Given the description of an element on the screen output the (x, y) to click on. 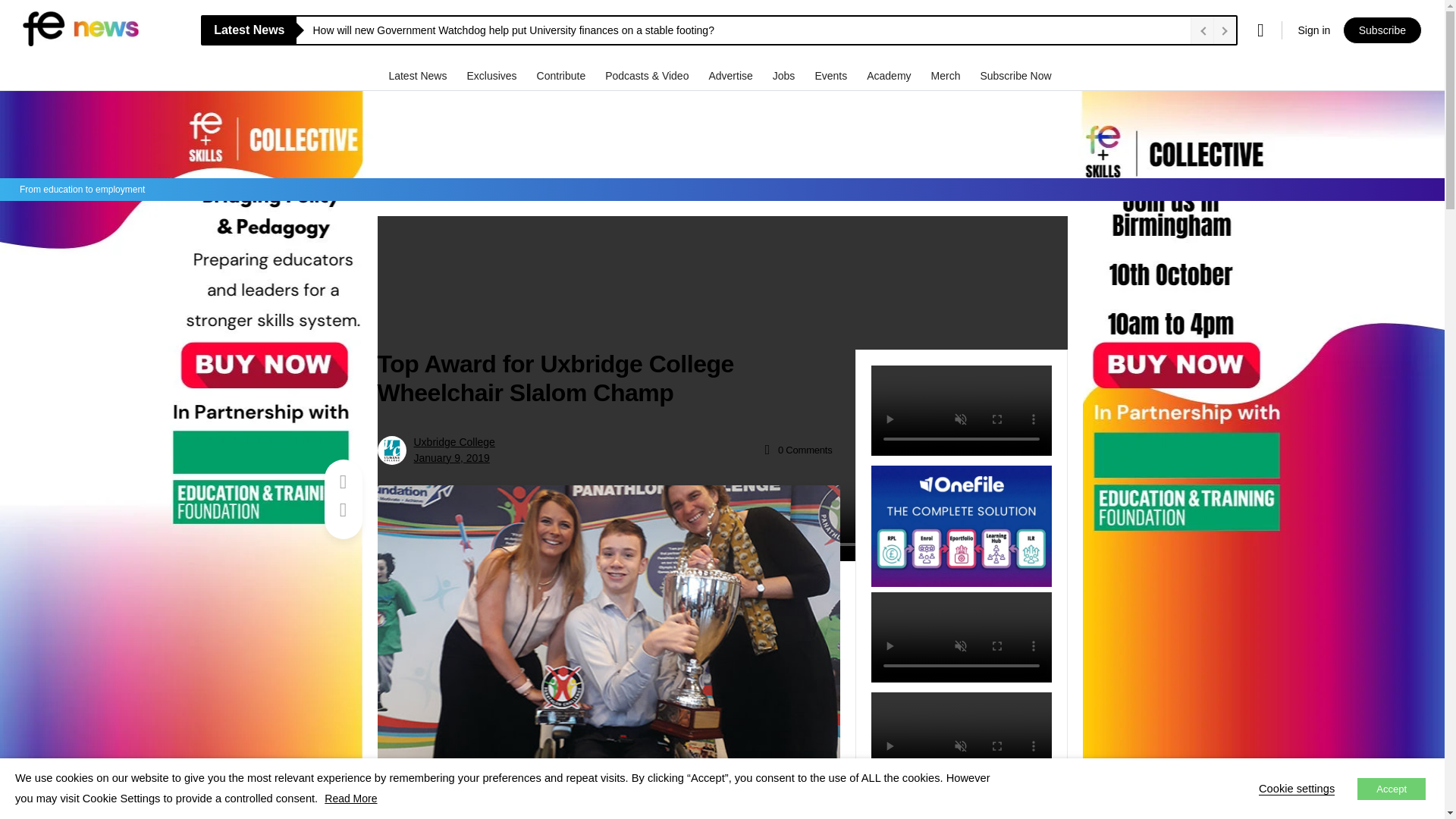
Subscribe (1382, 30)
Sign in (1313, 30)
Latest News (419, 75)
Exclusives (493, 75)
